Given the description of an element on the screen output the (x, y) to click on. 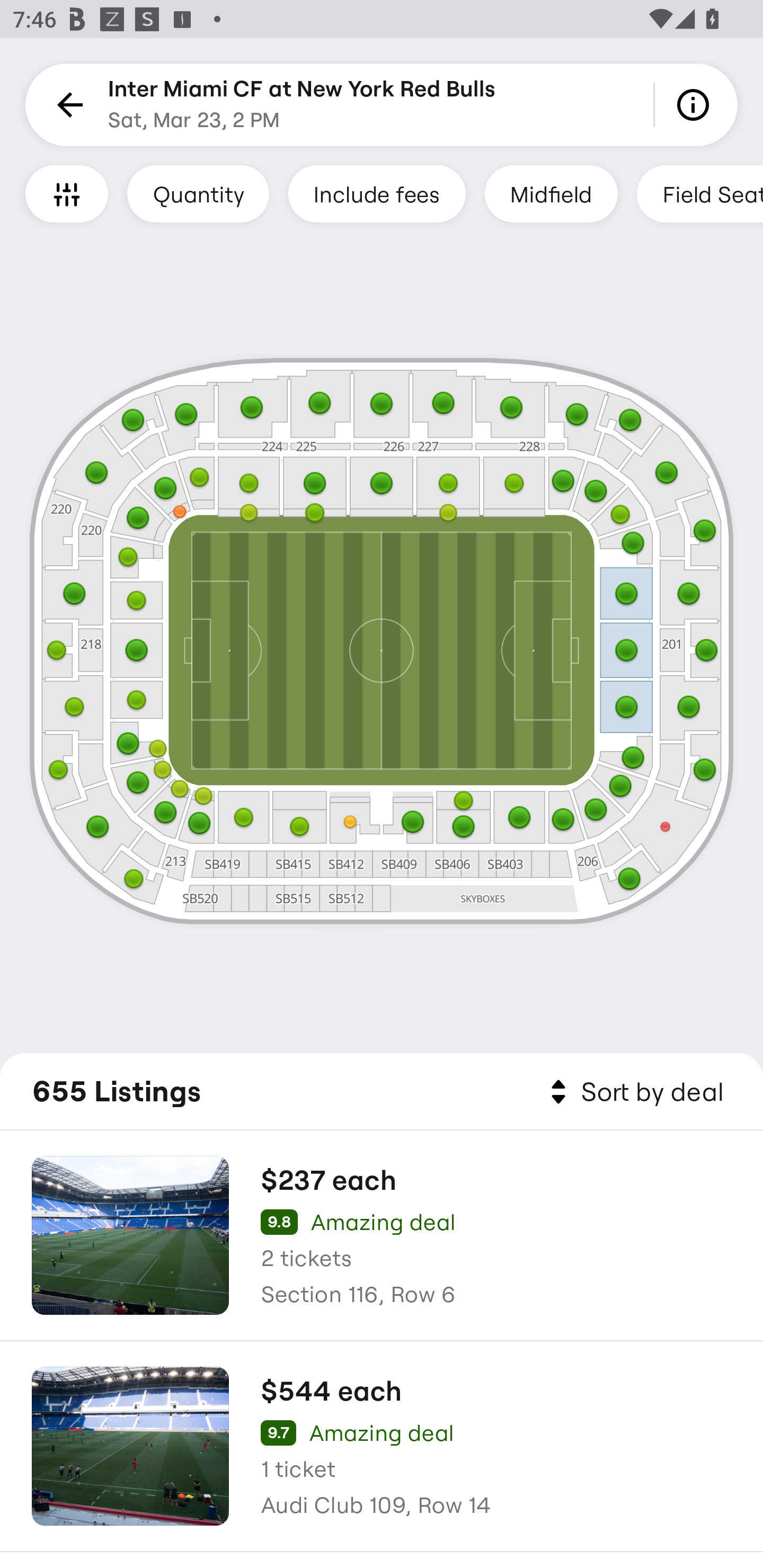
Back (66, 104)
Info (695, 104)
Filters and Accessible Seating (66, 193)
Quantity (198, 193)
Include fees (376, 193)
Midfield (551, 193)
Field Seats (700, 193)
Sort by deal (633, 1091)
